Given the description of an element on the screen output the (x, y) to click on. 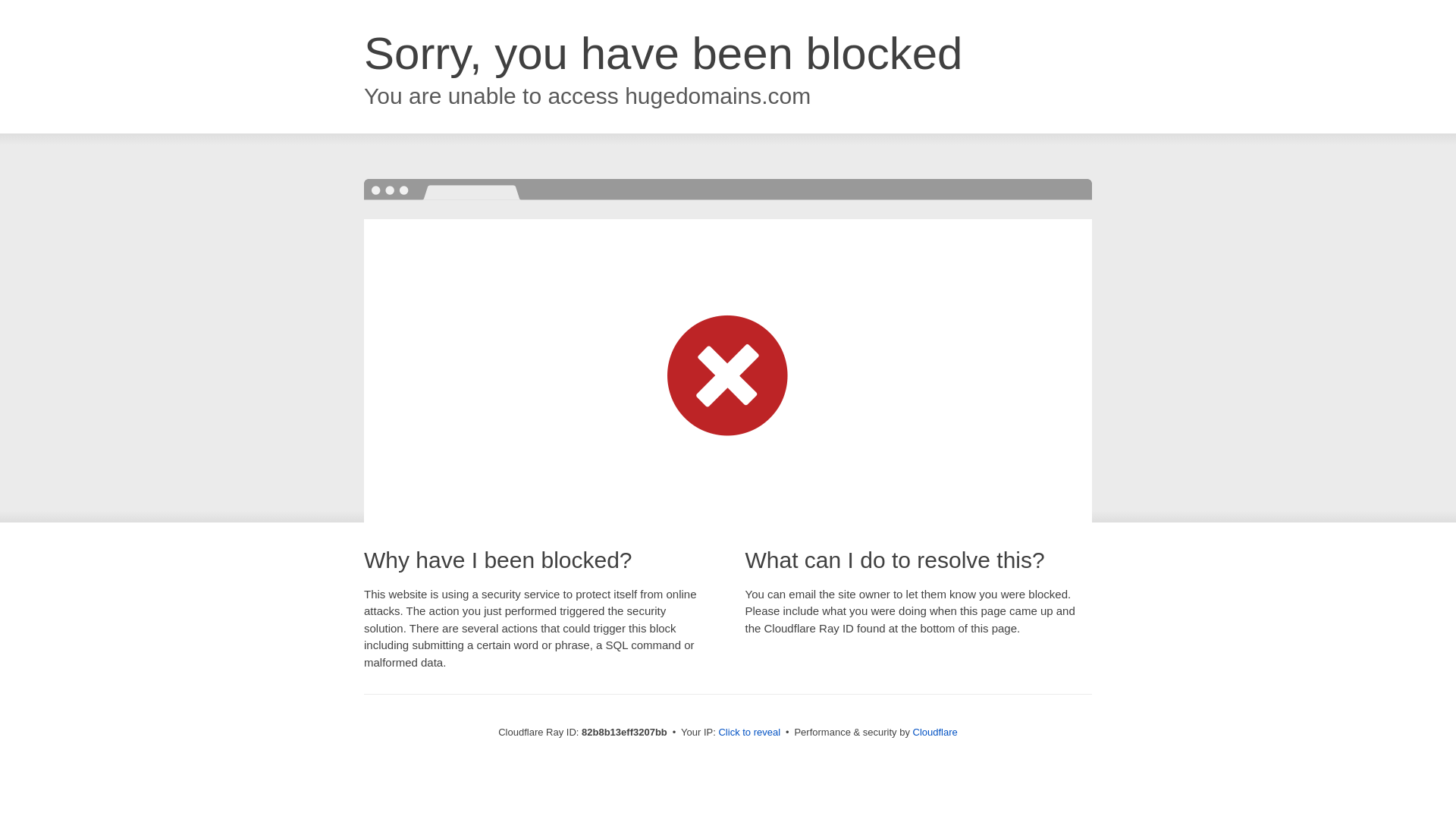
Click to reveal Element type: text (749, 732)
Cloudflare Element type: text (935, 731)
